Given the description of an element on the screen output the (x, y) to click on. 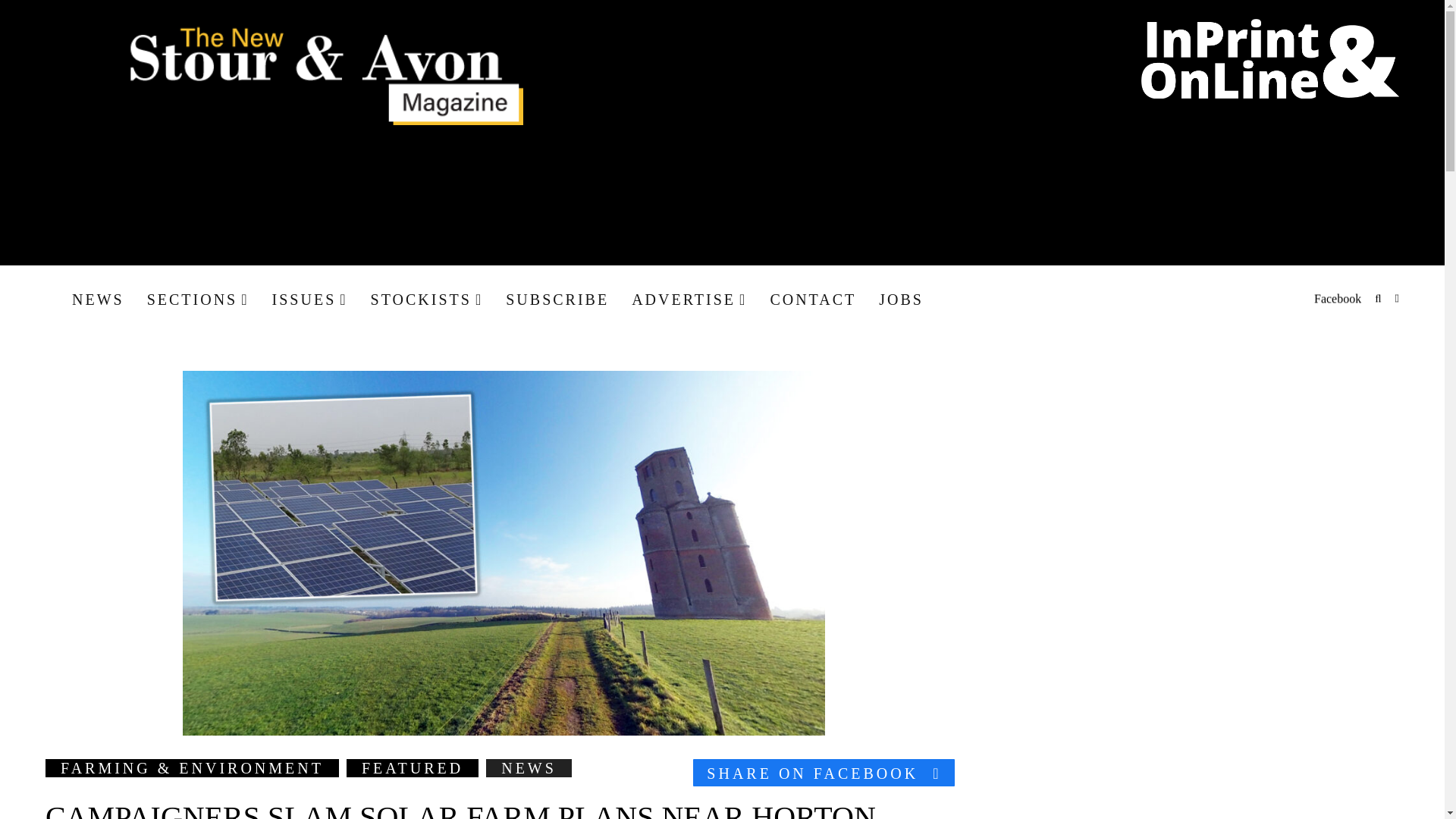
CONTACT (813, 299)
ADVERTISE (688, 299)
ISSUES (309, 299)
SUBSCRIBE (556, 299)
SECTIONS (197, 299)
STOCKISTS (427, 299)
